Given the description of an element on the screen output the (x, y) to click on. 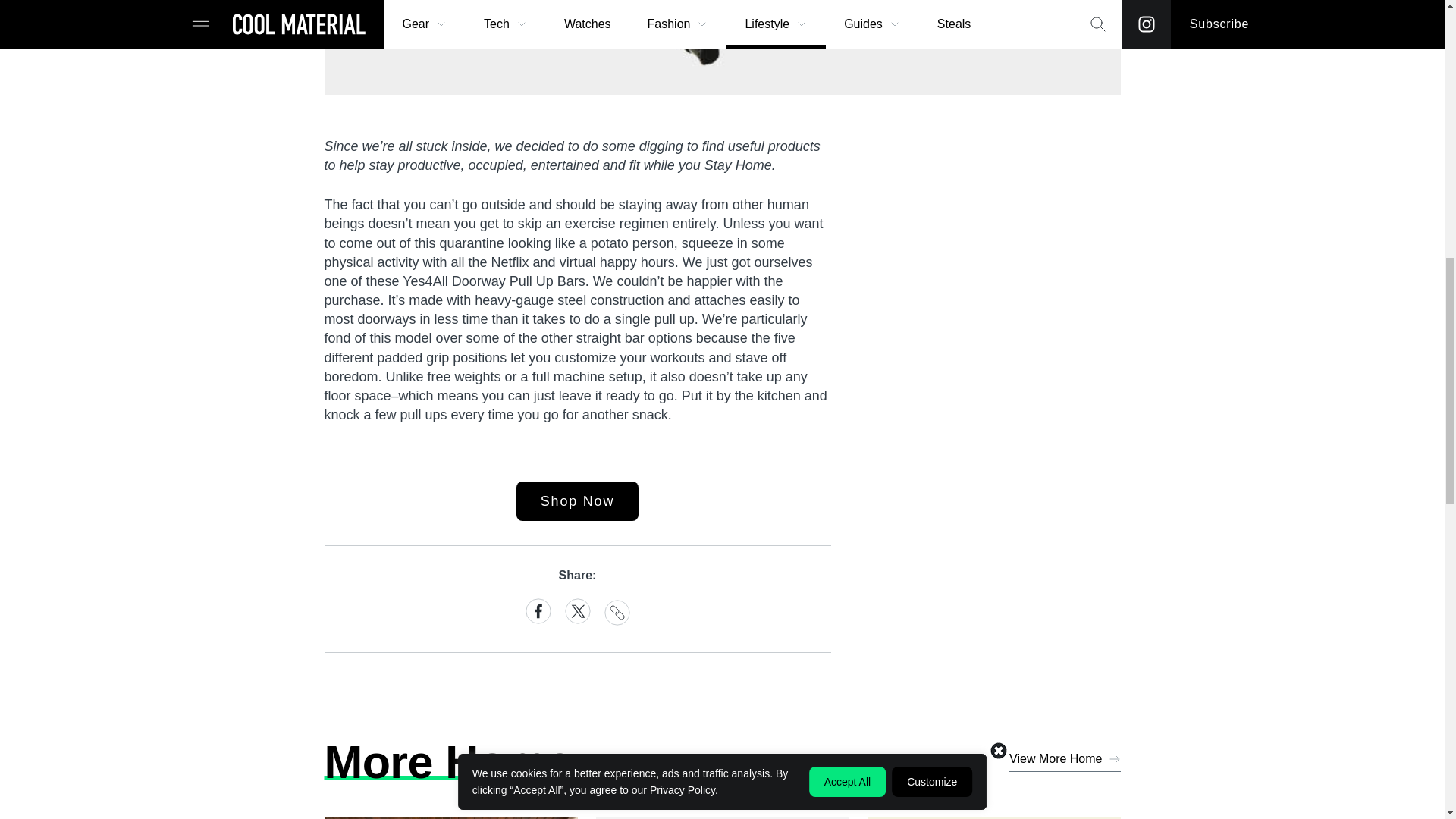
3rd party ad content (1007, 364)
